Given the description of an element on the screen output the (x, y) to click on. 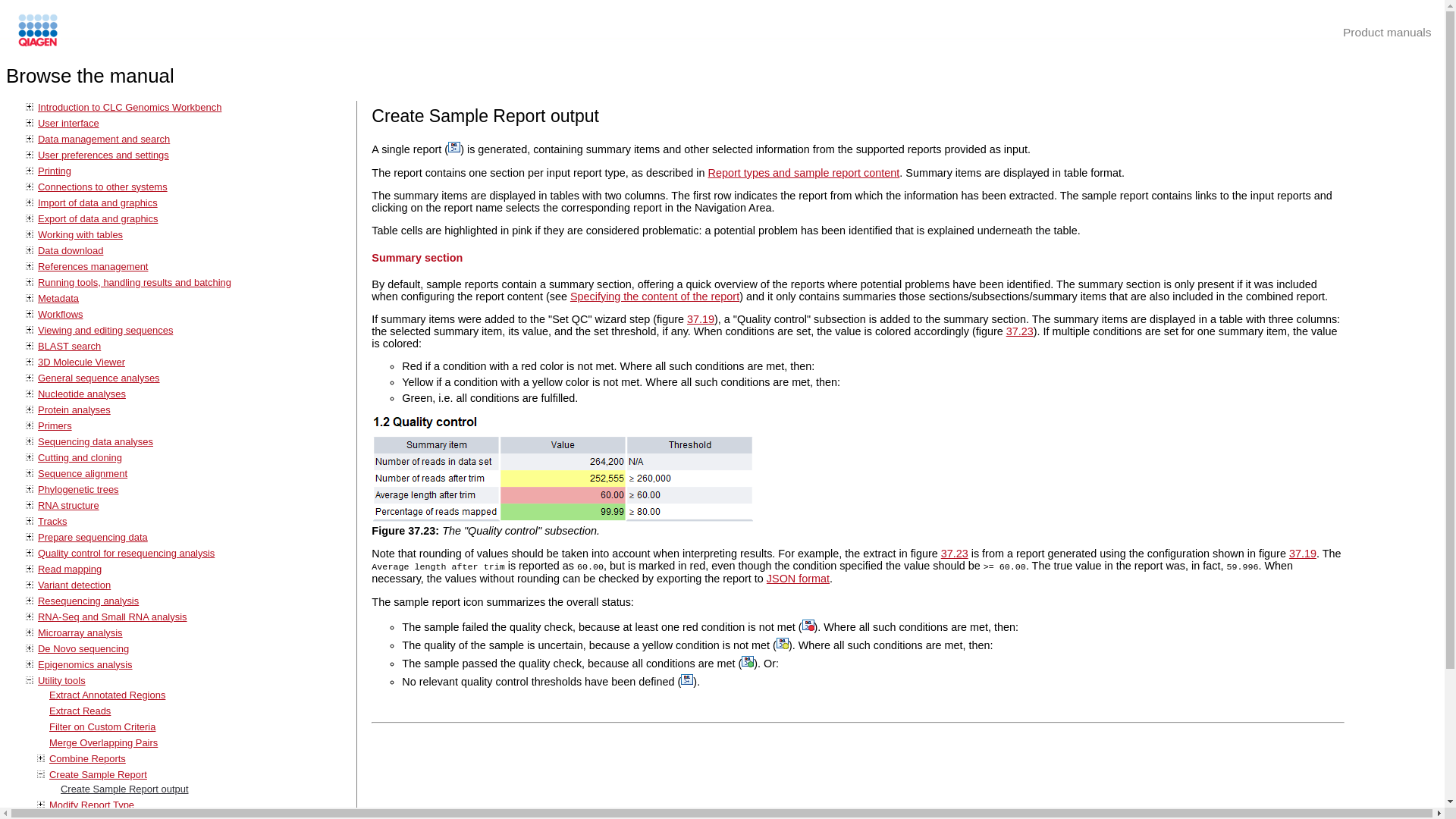
Introduction to CLC Genomics Workbench (129, 107)
Product manuals (1386, 31)
User interface (68, 122)
